Given the description of an element on the screen output the (x, y) to click on. 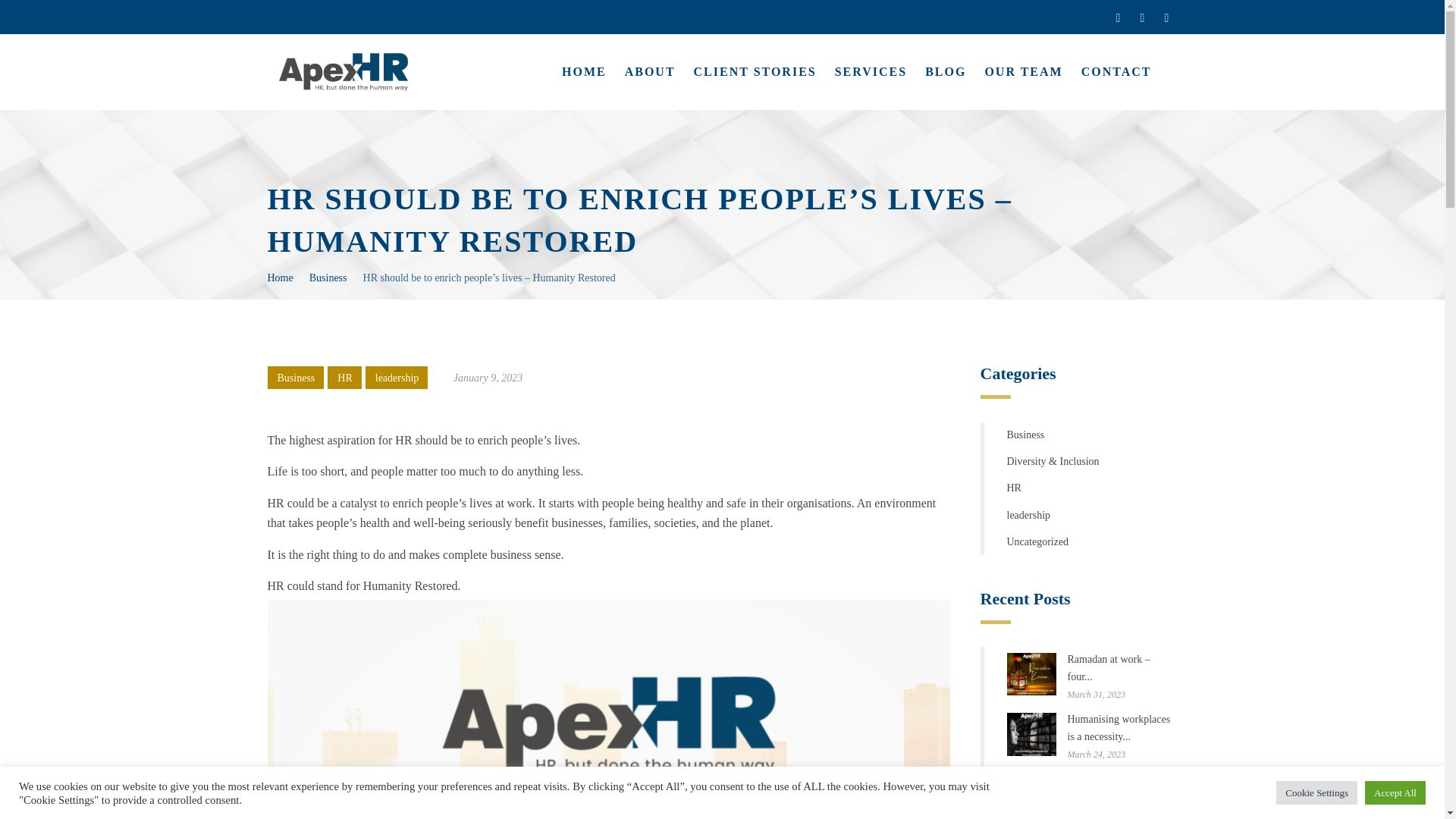
View all posts in HR (344, 378)
View all posts in leadership (397, 378)
HOME (584, 71)
View all posts in Business (296, 378)
ABOUT (649, 71)
